Given the description of an element on the screen output the (x, y) to click on. 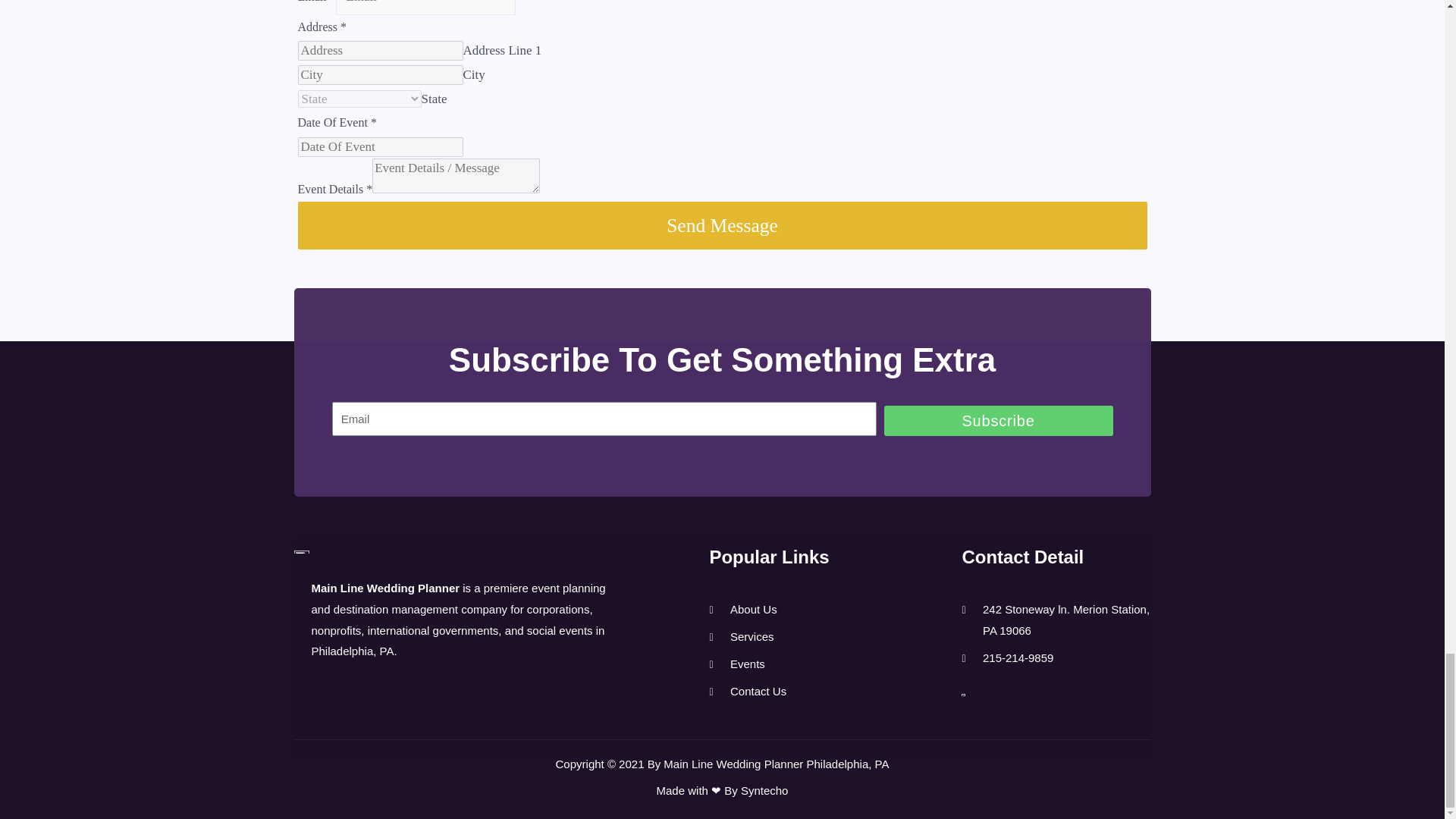
Services (747, 636)
Send Message (722, 225)
215-214-9859 (1055, 658)
About Us (747, 608)
Subscribe (998, 420)
Contact Us (747, 690)
242 Stoneway ln. Merion Station, PA 19066 (1055, 619)
Events (747, 663)
